Given the description of an element on the screen output the (x, y) to click on. 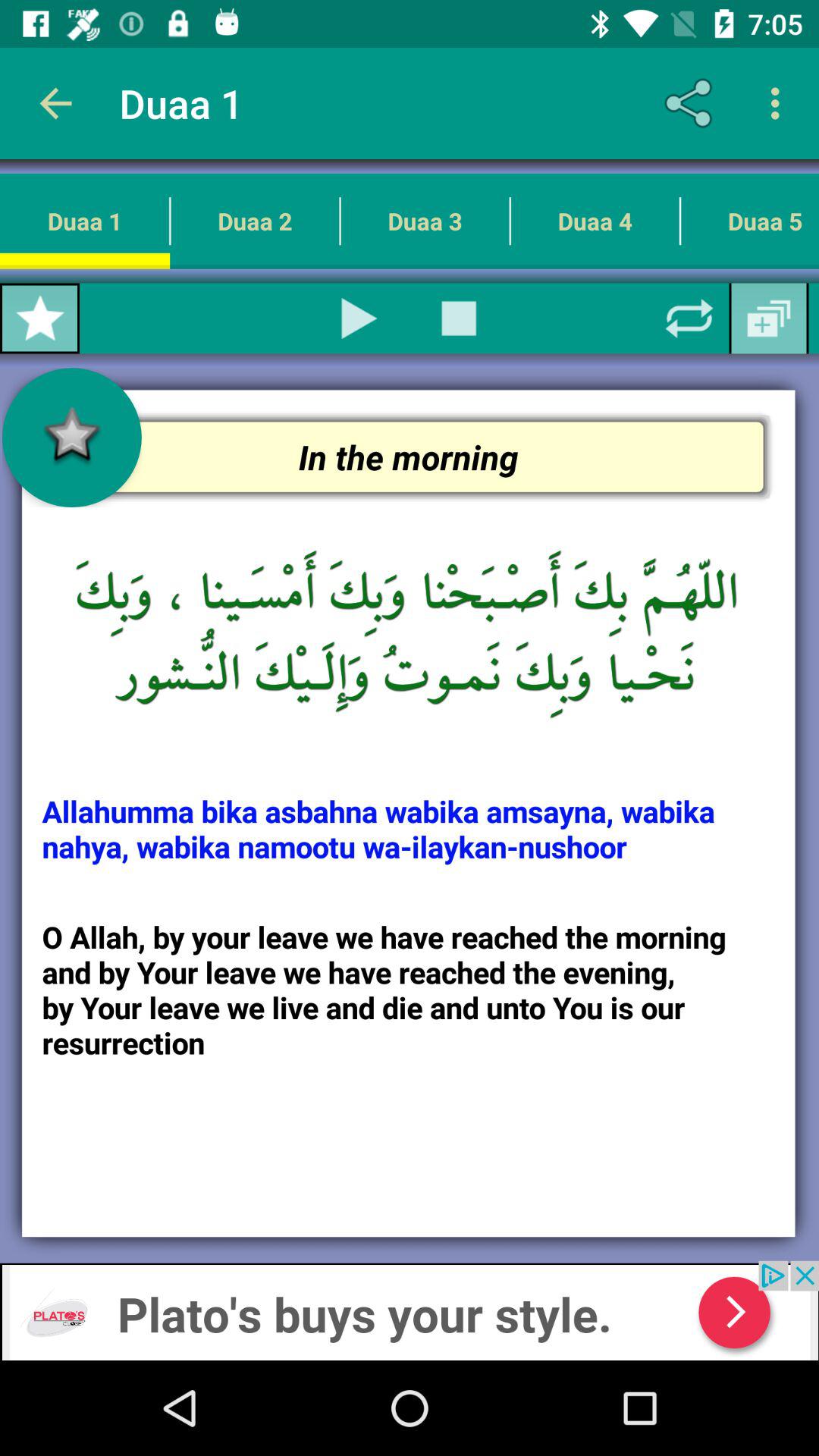
turn off item next to the duaa 4 app (458, 318)
